Given the description of an element on the screen output the (x, y) to click on. 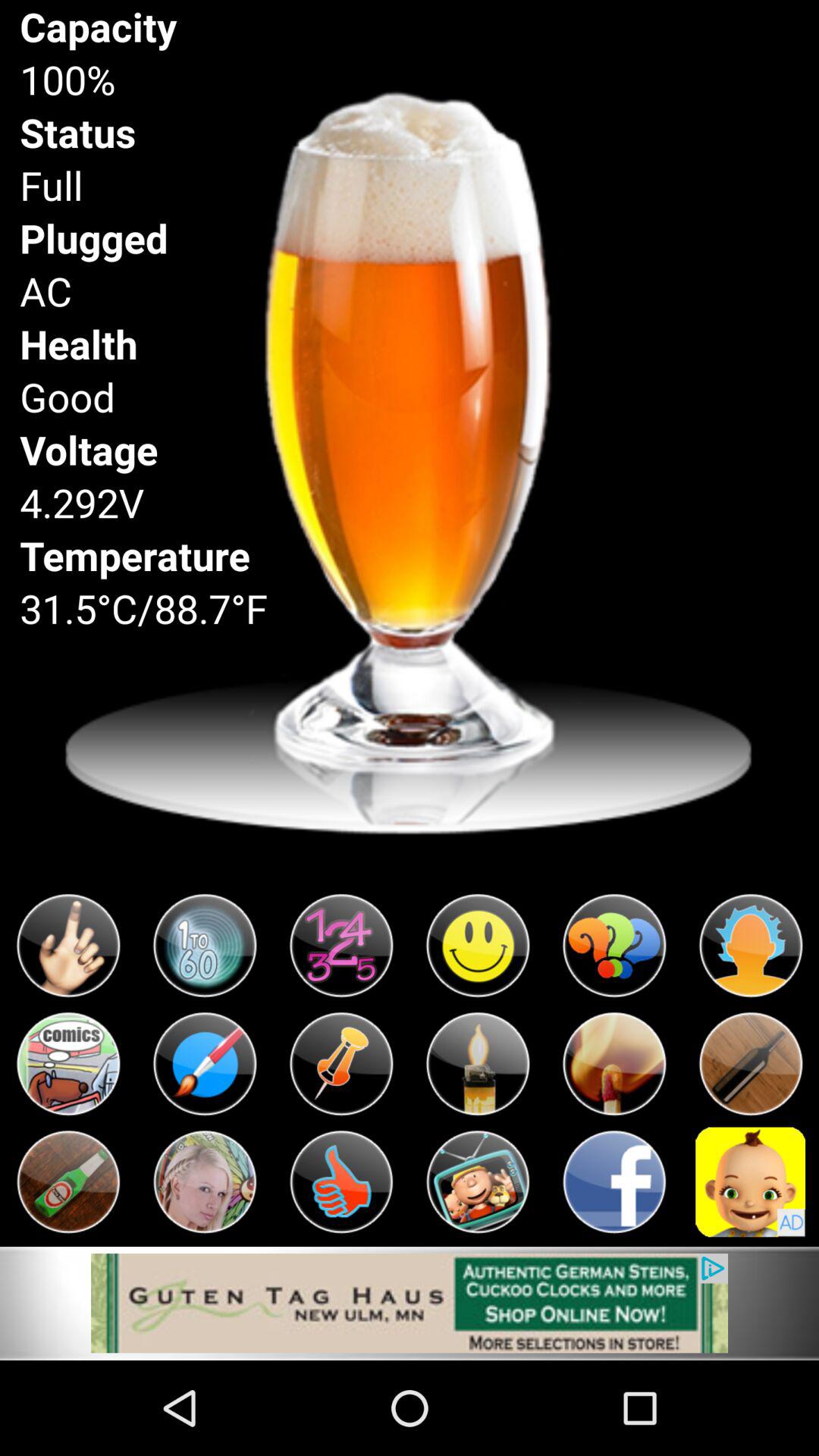
go back face book option (614, 1182)
